Given the description of an element on the screen output the (x, y) to click on. 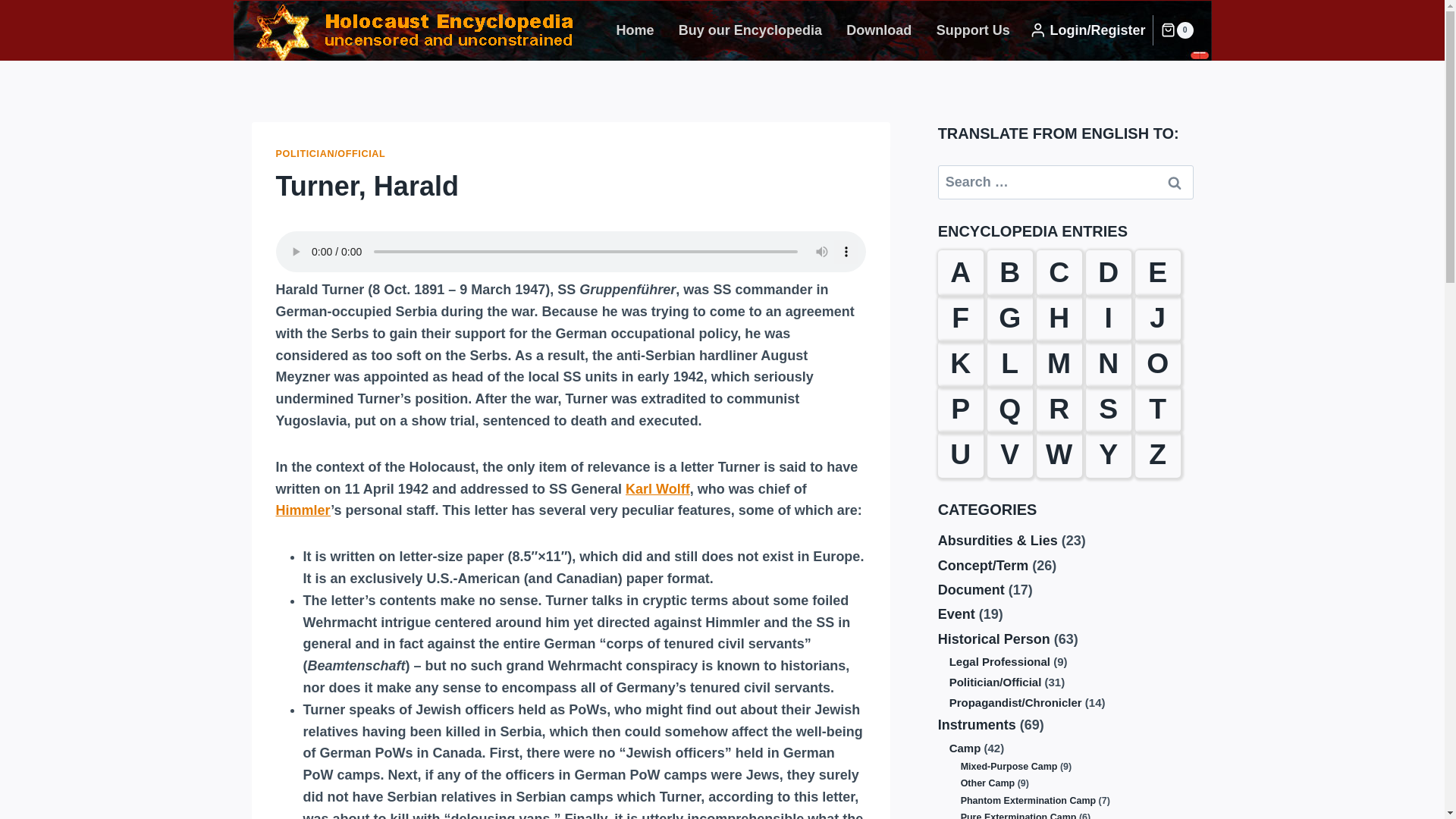
Search (1174, 182)
Buy our Encyclopedia (750, 30)
C (1058, 272)
Search (1174, 182)
Himmler (303, 509)
F (960, 318)
L (1009, 363)
Home (634, 30)
I (1108, 318)
E (1157, 272)
